Given the description of an element on the screen output the (x, y) to click on. 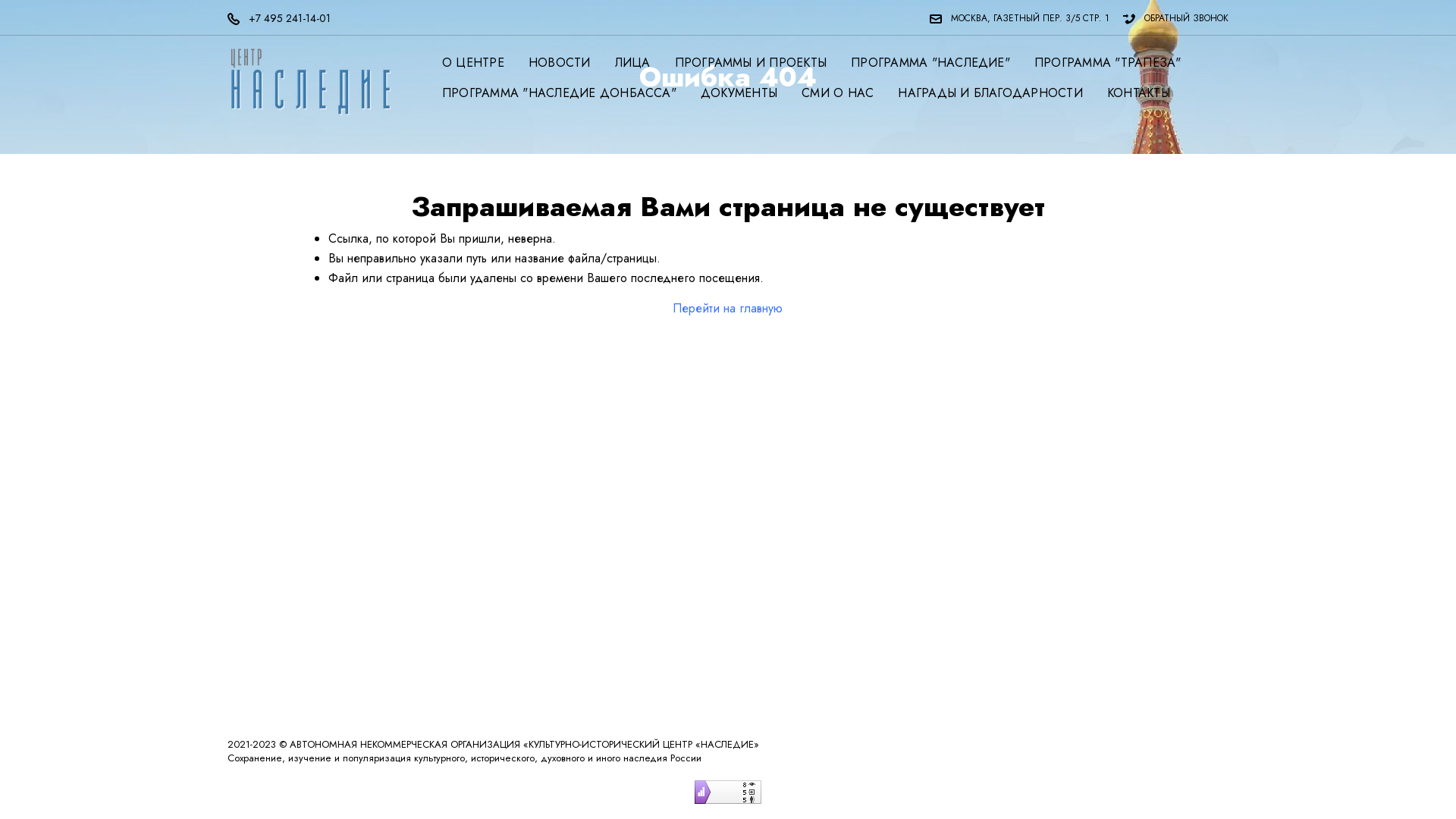
+7 495 241-14-01 Element type: text (284, 18)
